Given the description of an element on the screen output the (x, y) to click on. 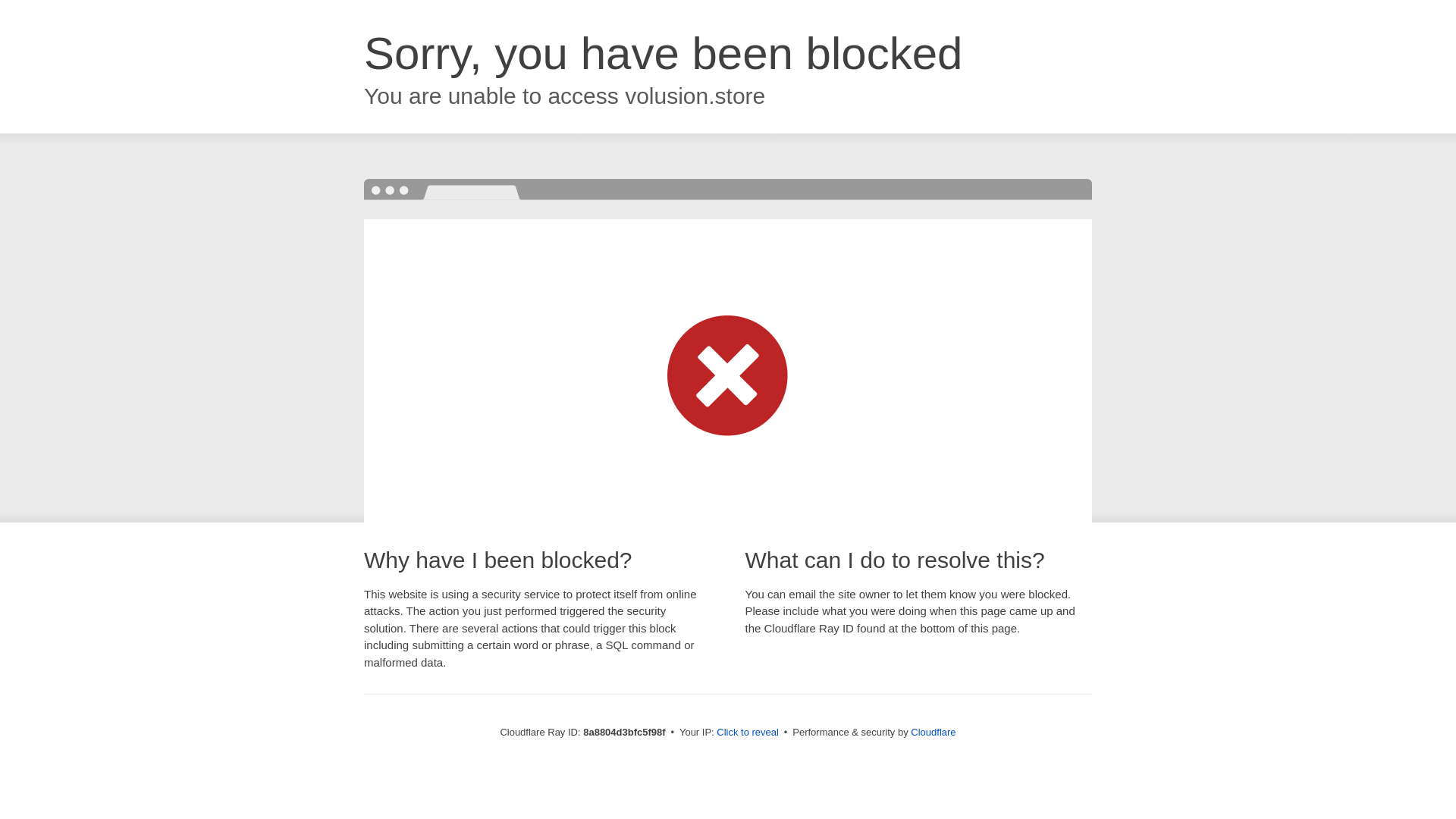
Cloudflare (933, 731)
Click to reveal (747, 732)
